Given the description of an element on the screen output the (x, y) to click on. 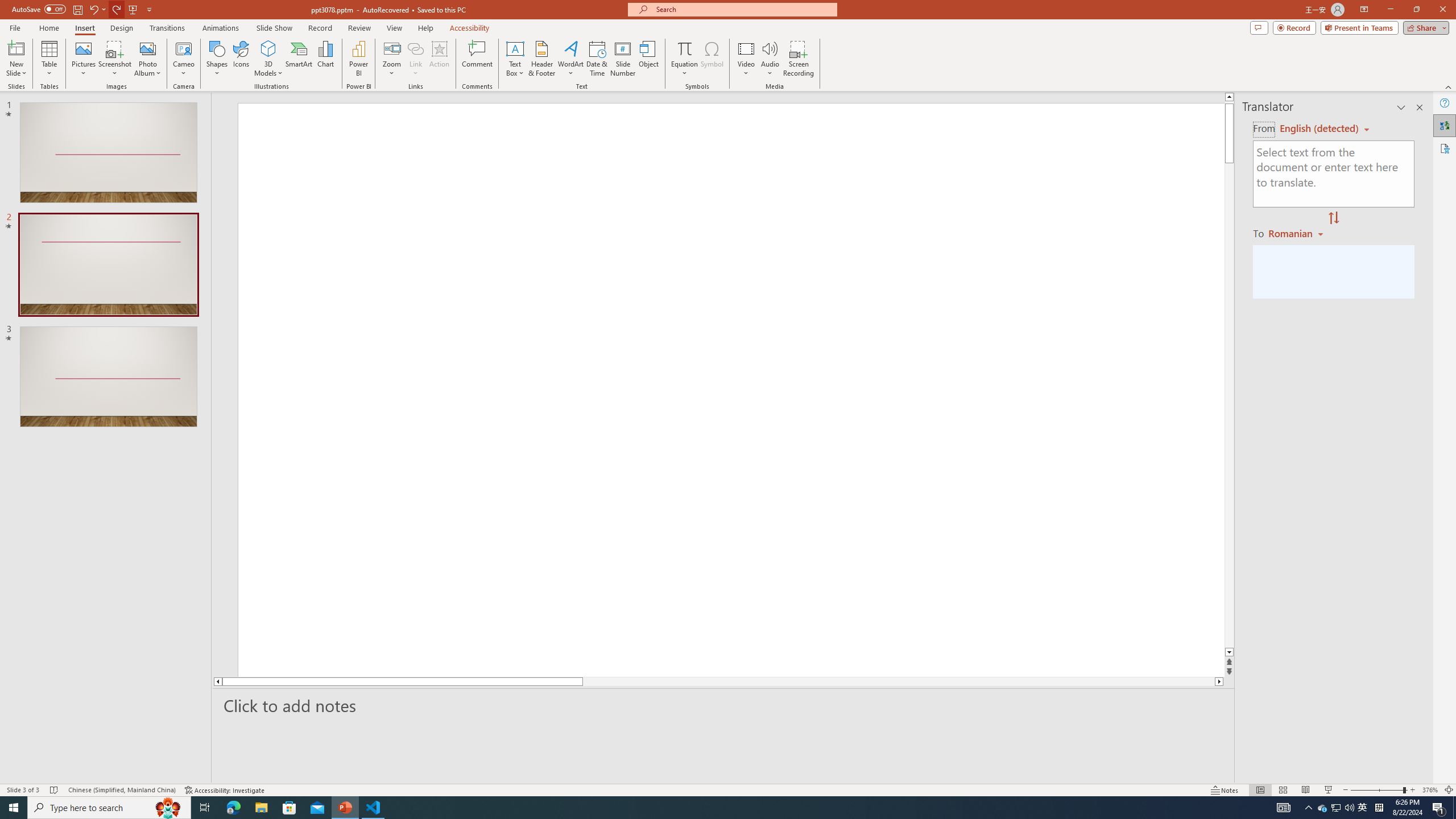
SmartArt... (298, 58)
